Given the description of an element on the screen output the (x, y) to click on. 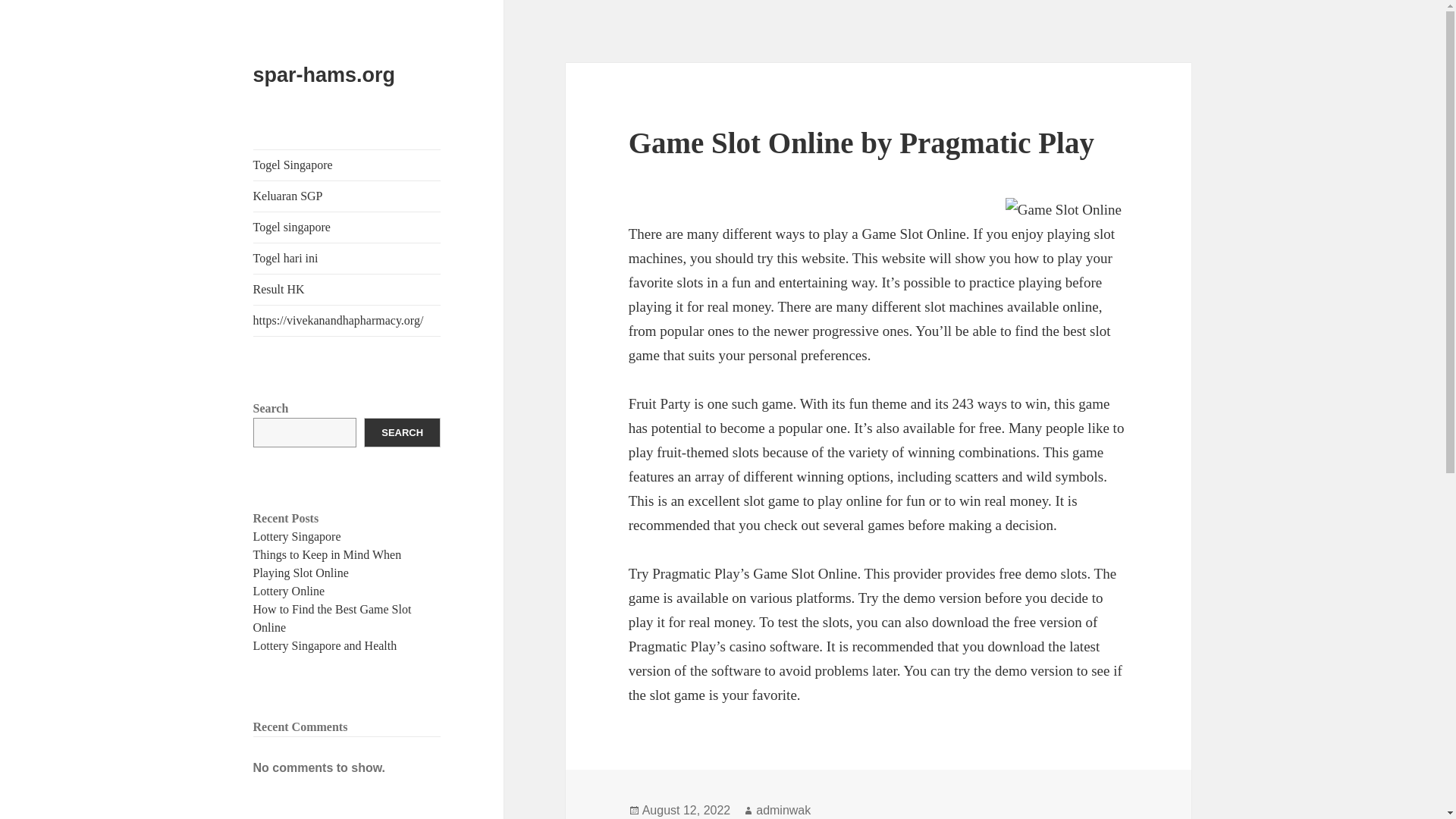
Lottery Singapore and Health (325, 645)
spar-hams.org (324, 74)
Lottery Singapore (296, 535)
Keluaran SGP (347, 195)
adminwak (782, 810)
Lottery Online (288, 590)
How to Find the Best Game Slot Online (332, 617)
Togel hari ini (347, 258)
Things to Keep in Mind When Playing Slot Online (327, 563)
Result HK (347, 289)
Togel Singapore (347, 164)
Togel singapore (347, 227)
August 12, 2022 (686, 810)
SEARCH (402, 432)
